Given the description of an element on the screen output the (x, y) to click on. 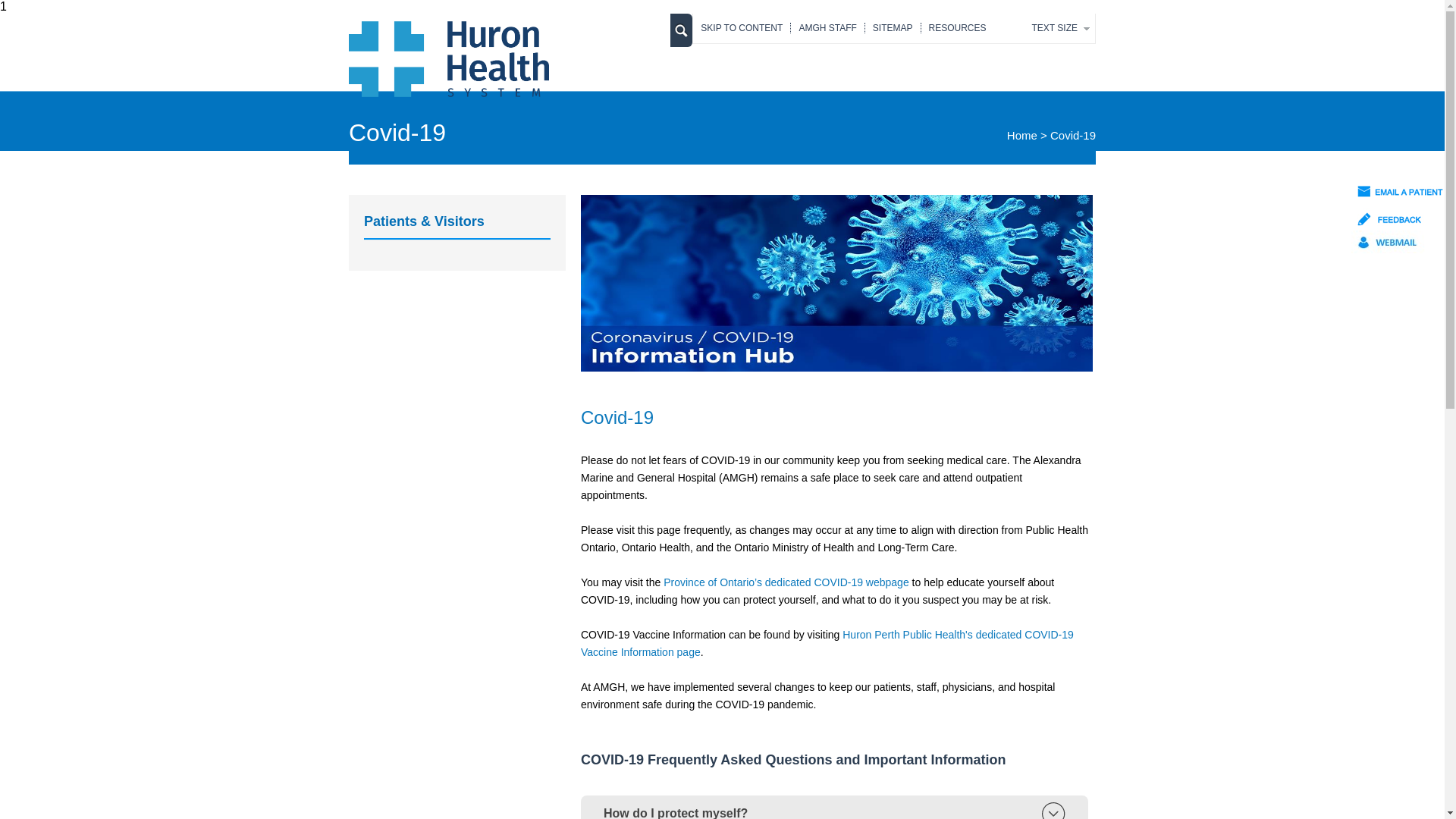
Search this site Element type: hover (681, 32)
SKIP TO CONTENT Element type: text (741, 27)
Home Page Element type: hover (448, 92)
AMGH STAFF Element type: text (827, 27)
TEXT SIZE Element type: text (1054, 27)
Home Element type: text (1022, 134)
SITEMAP Element type: text (893, 27)
RESOURCES Element type: text (957, 27)
